Given the description of an element on the screen output the (x, y) to click on. 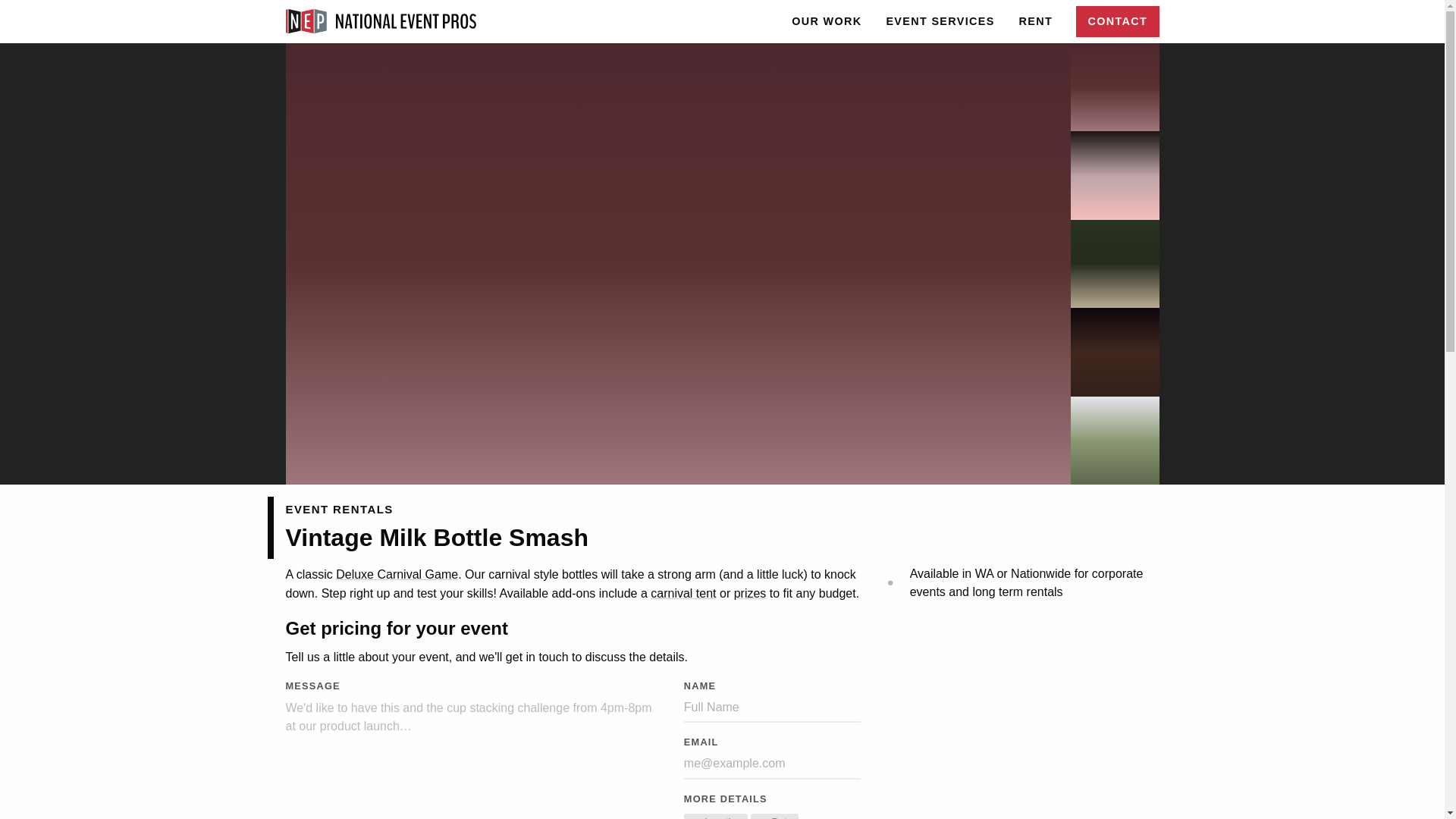
RENT (1035, 20)
EVENT SERVICES (939, 20)
Deluxe Carnival Game (397, 574)
prizes (750, 593)
carnival tent (825, 20)
Location (683, 593)
Date (716, 816)
CONTACT (774, 816)
